Given the description of an element on the screen output the (x, y) to click on. 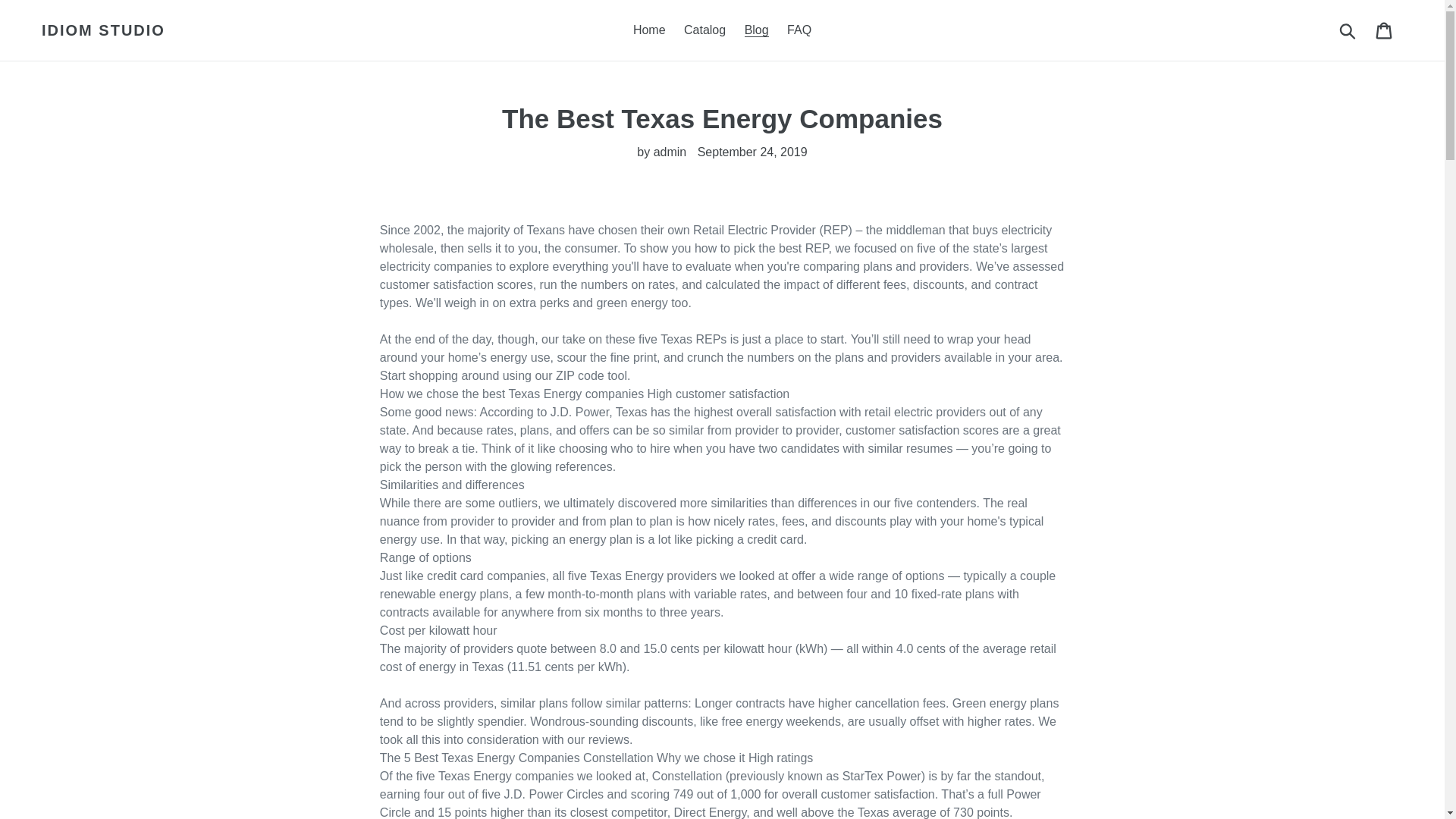
Submit (1348, 29)
Catalog (705, 29)
Cart (1385, 29)
Blog (756, 29)
IDIOM STUDIO (103, 30)
FAQ (798, 29)
Home (649, 29)
